Given the description of an element on the screen output the (x, y) to click on. 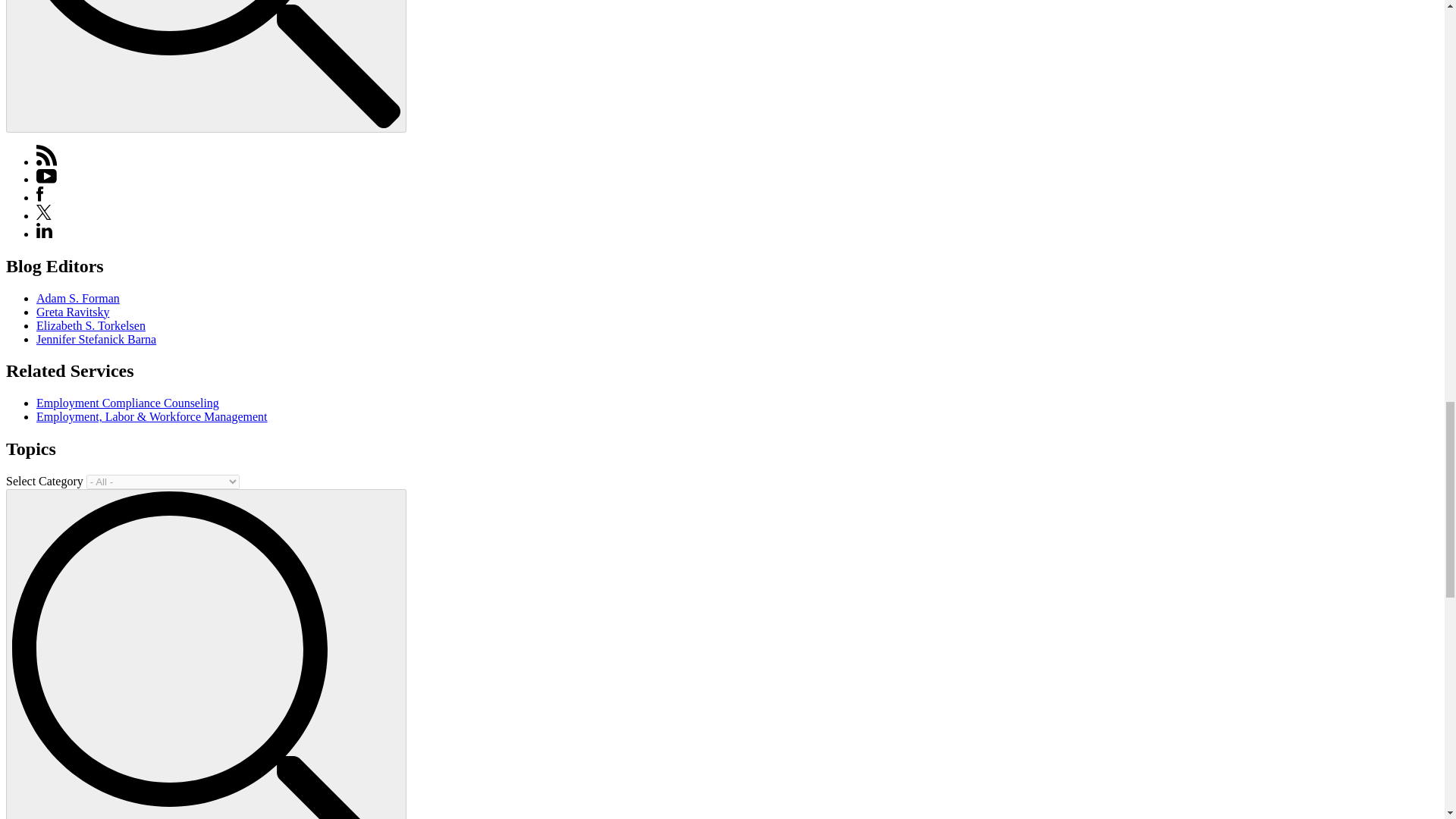
Youtube (46, 178)
Youtube (46, 175)
Linkedin (44, 233)
Search (205, 63)
Search (205, 653)
Twitter (43, 215)
Jennifer Stefanick Barna (95, 338)
Search (205, 66)
Linkedin (44, 230)
Linkedin (44, 233)
